Given the description of an element on the screen output the (x, y) to click on. 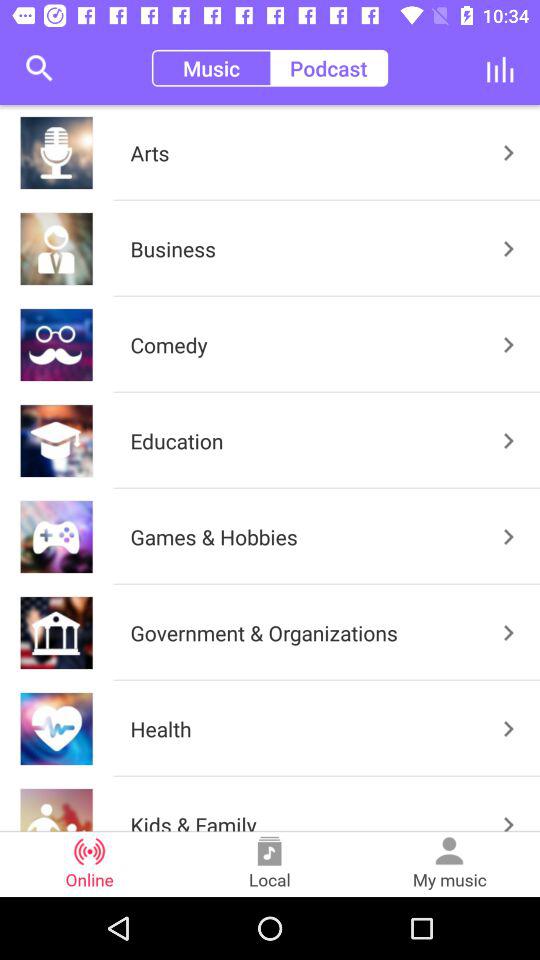
tap the podcast item (328, 68)
